Given the description of an element on the screen output the (x, y) to click on. 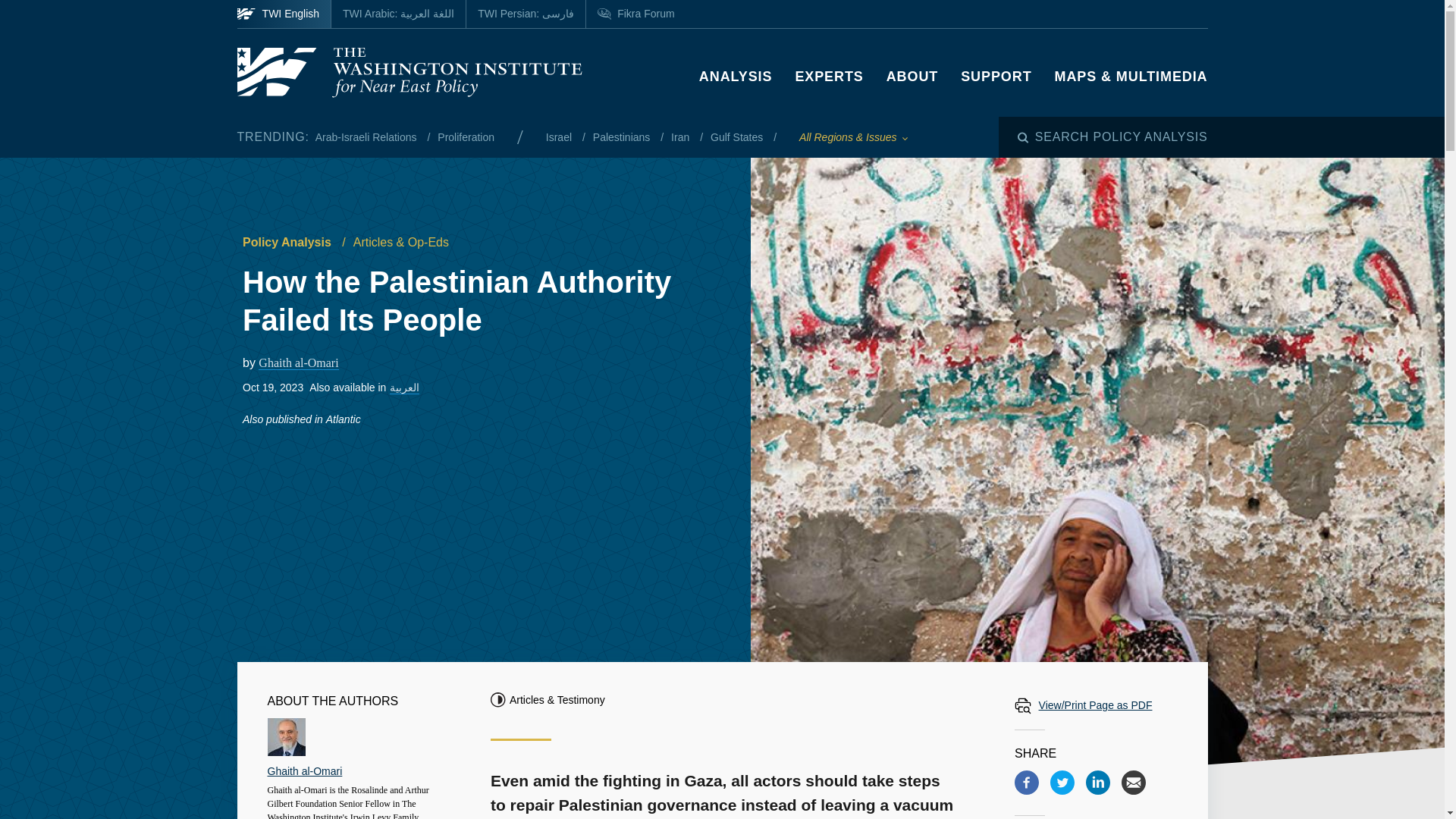
Proliferation (466, 136)
Israel (560, 136)
SUPPORT (995, 76)
Homepage (407, 72)
Linkedin (1097, 782)
ANALYSIS (735, 76)
Arab-Israeli Relations (367, 136)
Palestinians (622, 136)
ABOUT (912, 76)
Gulf States (737, 136)
Twitter (1061, 782)
Iran (682, 136)
Email (1133, 782)
Facebook (1026, 782)
